Given the description of an element on the screen output the (x, y) to click on. 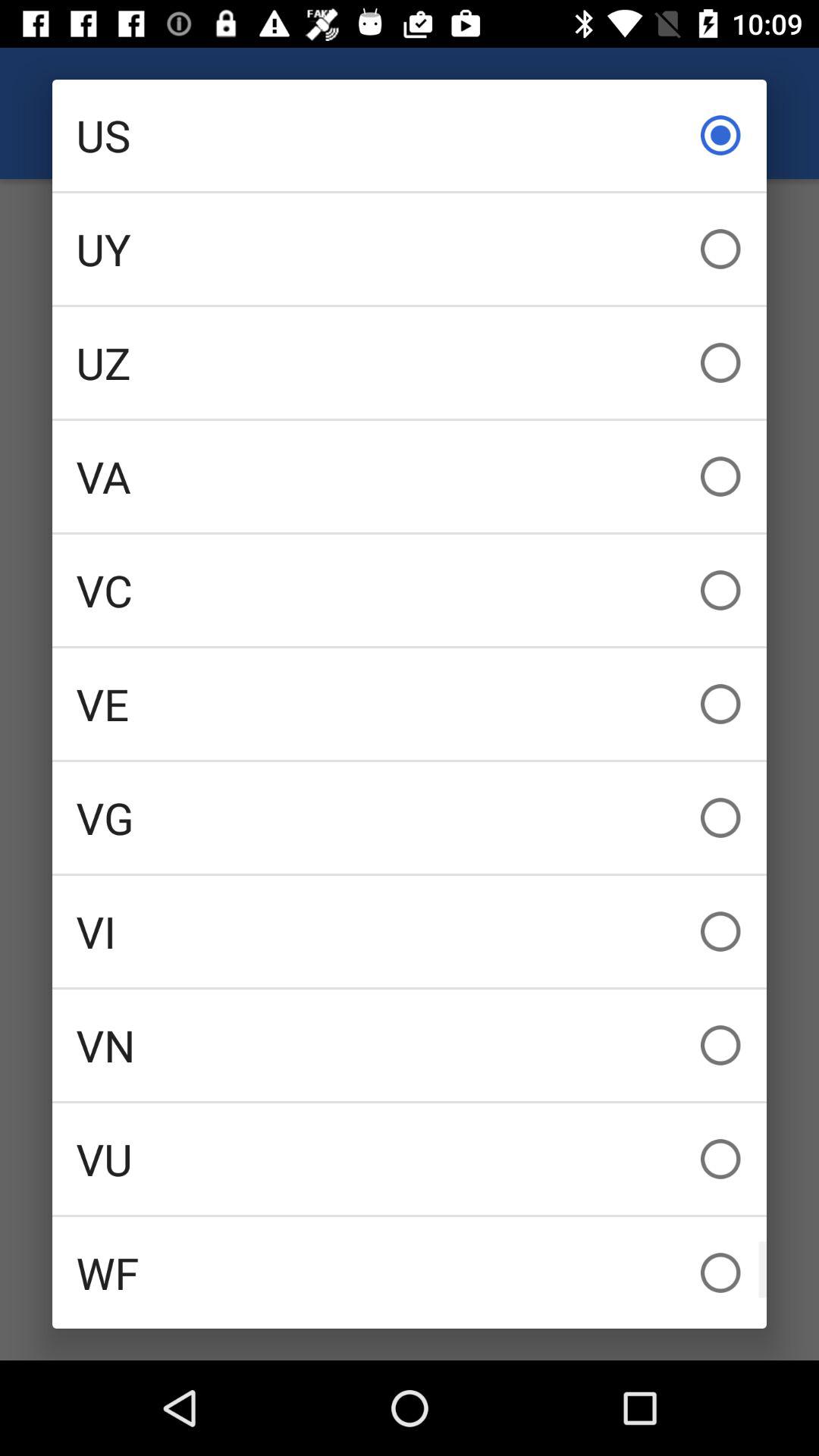
jump until vg item (409, 817)
